Given the description of an element on the screen output the (x, y) to click on. 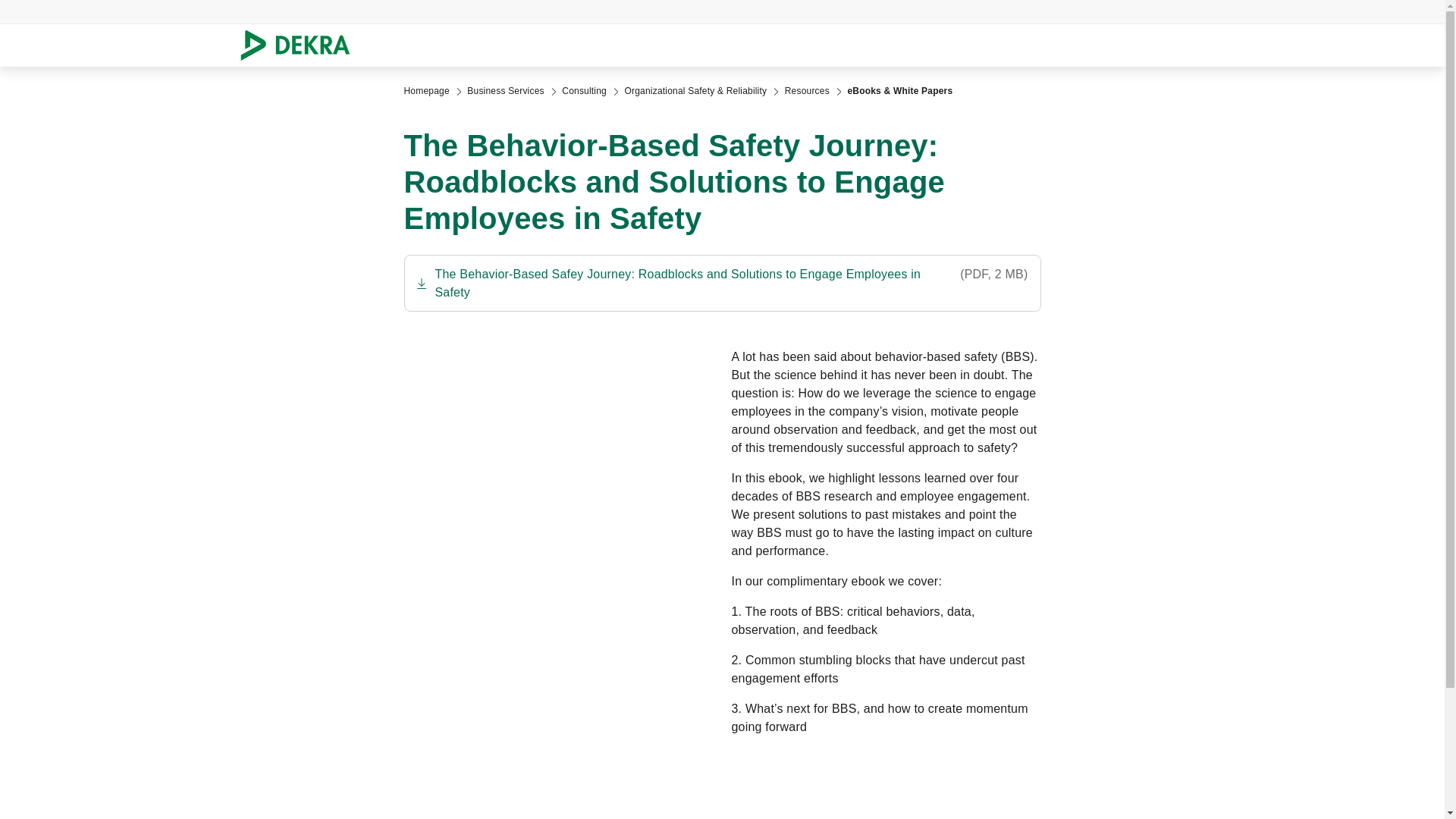
Logo (300, 45)
Homepage (425, 91)
Resources (806, 91)
Consulting (584, 91)
Business Services (505, 91)
Search (1243, 45)
